Given the description of an element on the screen output the (x, y) to click on. 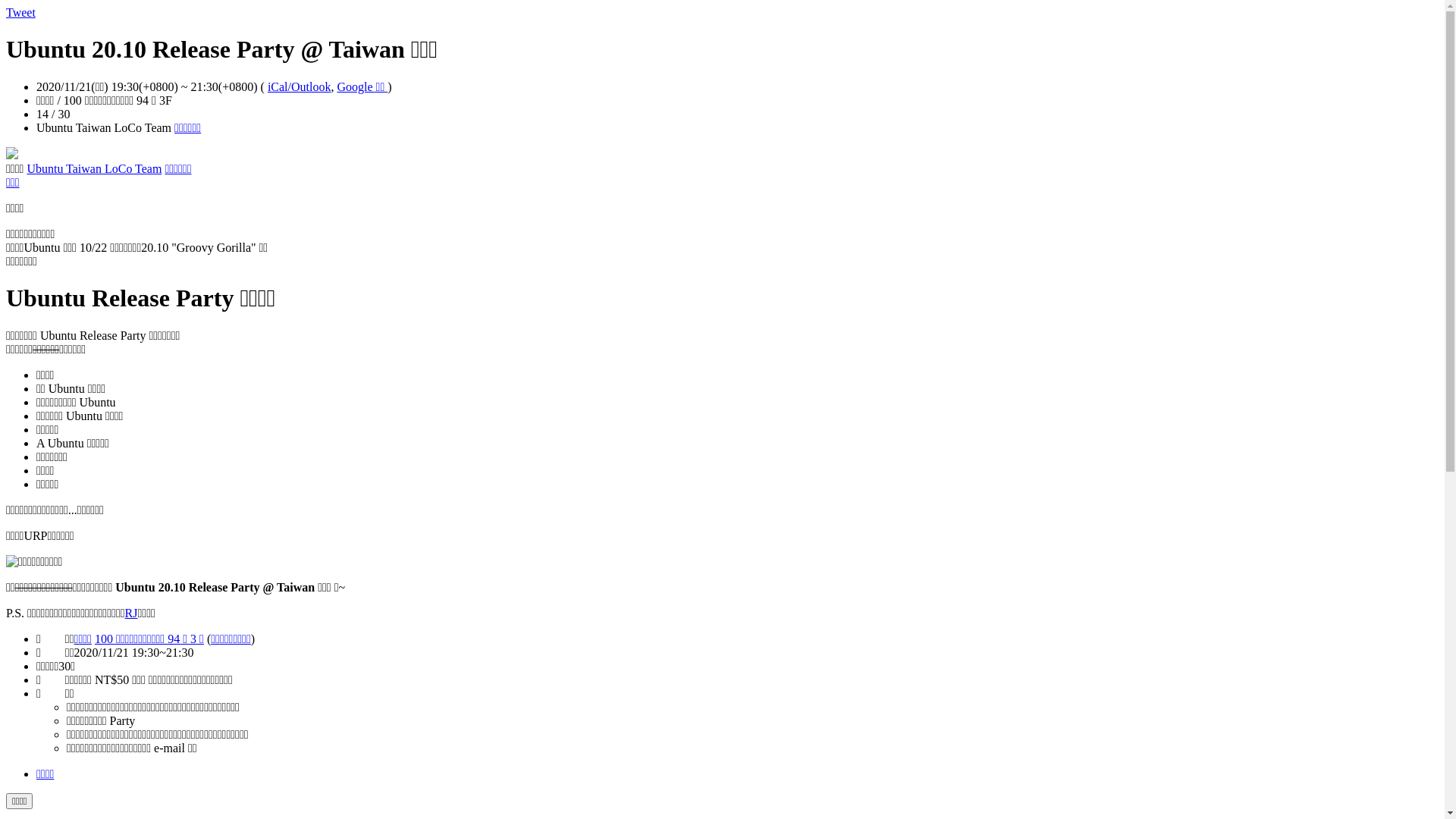
Tweet Element type: text (20, 12)
Ubuntu Taiwan LoCo Team Element type: text (93, 168)
RJ Element type: text (131, 612)
iCal/Outlook Element type: text (299, 86)
